Given the description of an element on the screen output the (x, y) to click on. 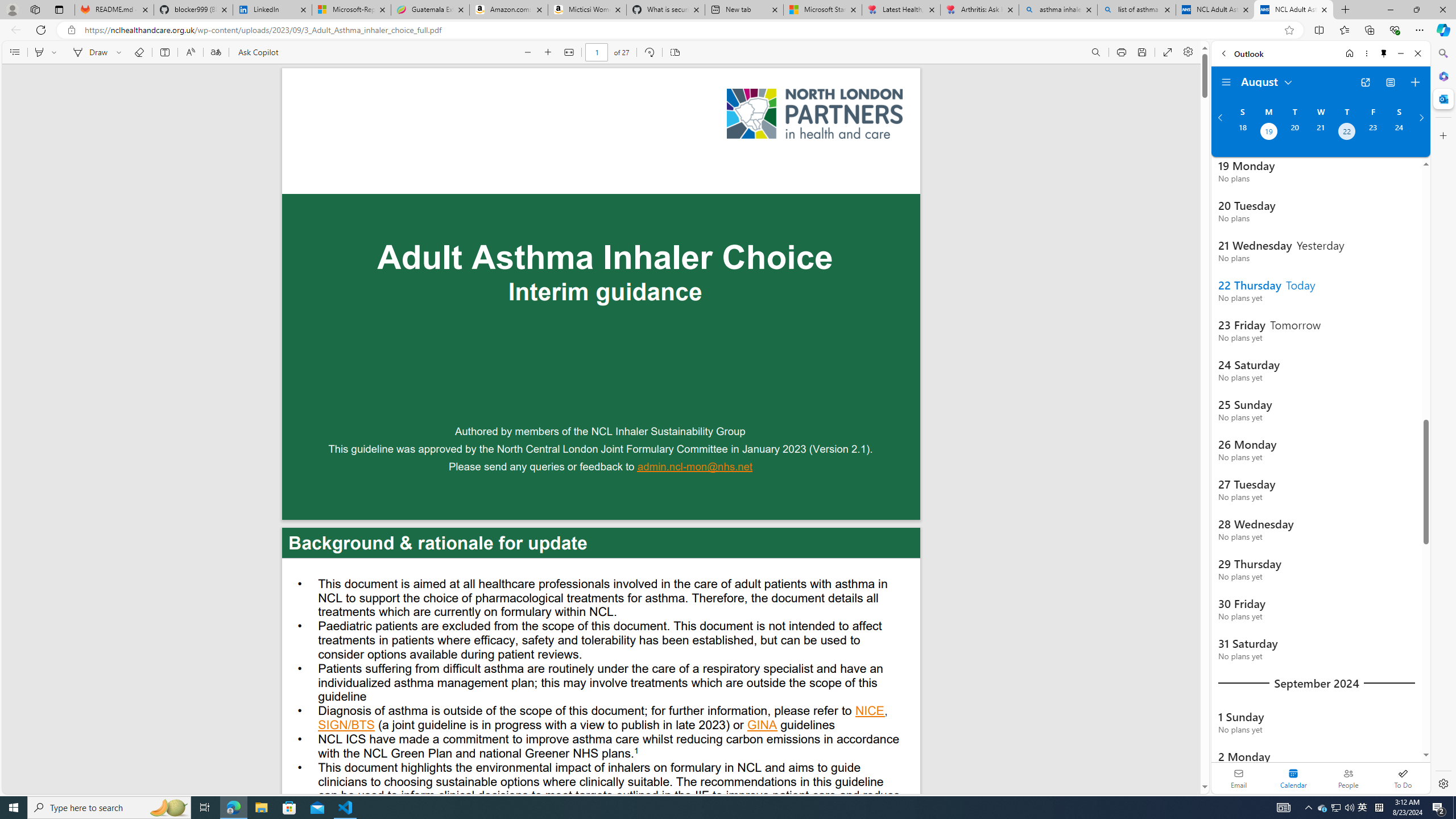
View Switcher. Current view is Agenda view (1390, 82)
Enter PDF full screen (1167, 52)
NICE (870, 711)
Erase (138, 52)
Page view (674, 52)
NCL Adult Asthma Inhaler Choice Guideline (1293, 9)
Print (Ctrl+P) (1121, 52)
Sunday, August 18, 2024.  (1242, 132)
